Given the description of an element on the screen output the (x, y) to click on. 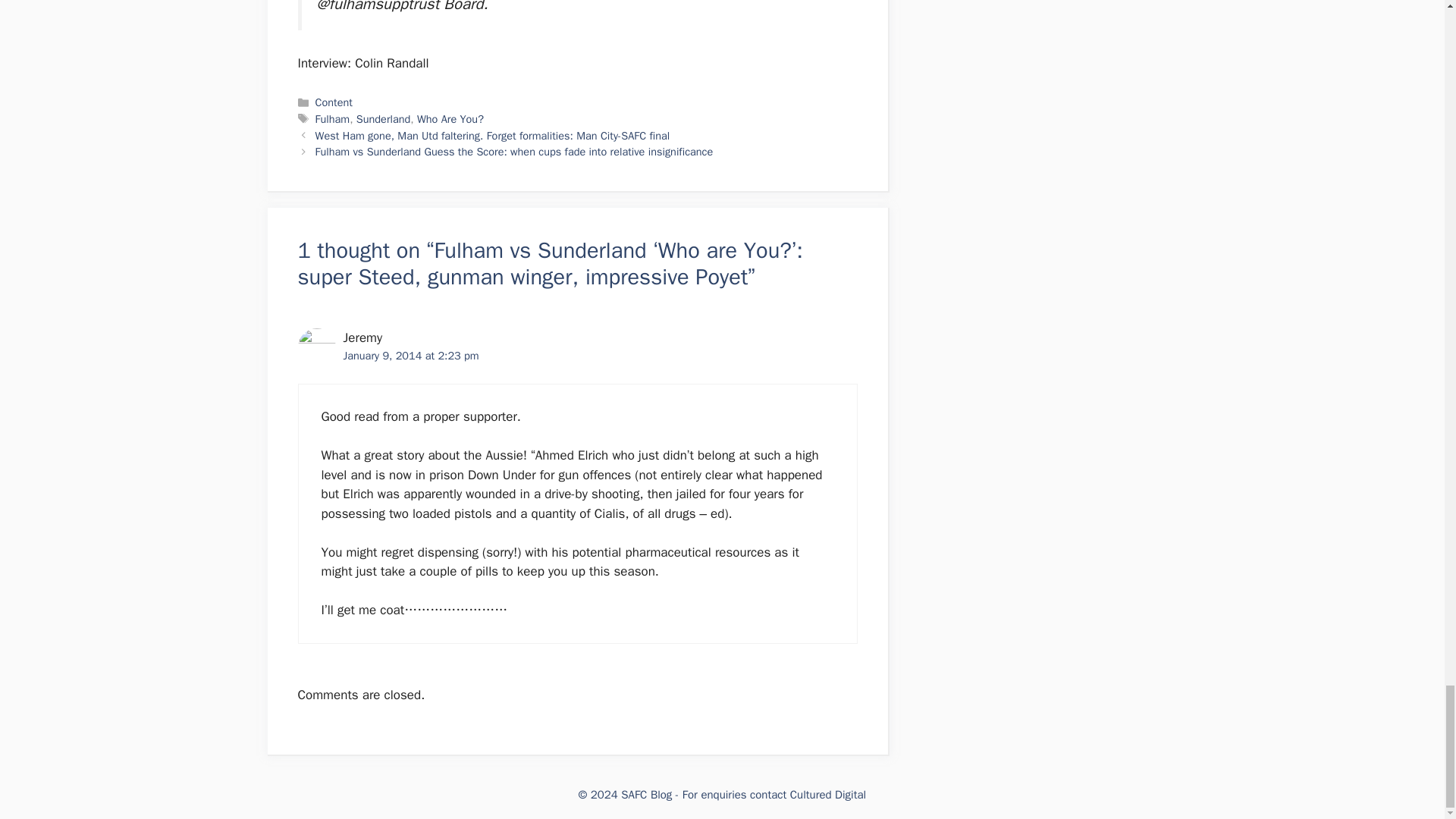
Sunderland (383, 119)
January 9, 2014 at 2:23 pm (410, 355)
Content (333, 101)
Fulham (332, 119)
Who Are You? (449, 119)
